Given the description of an element on the screen output the (x, y) to click on. 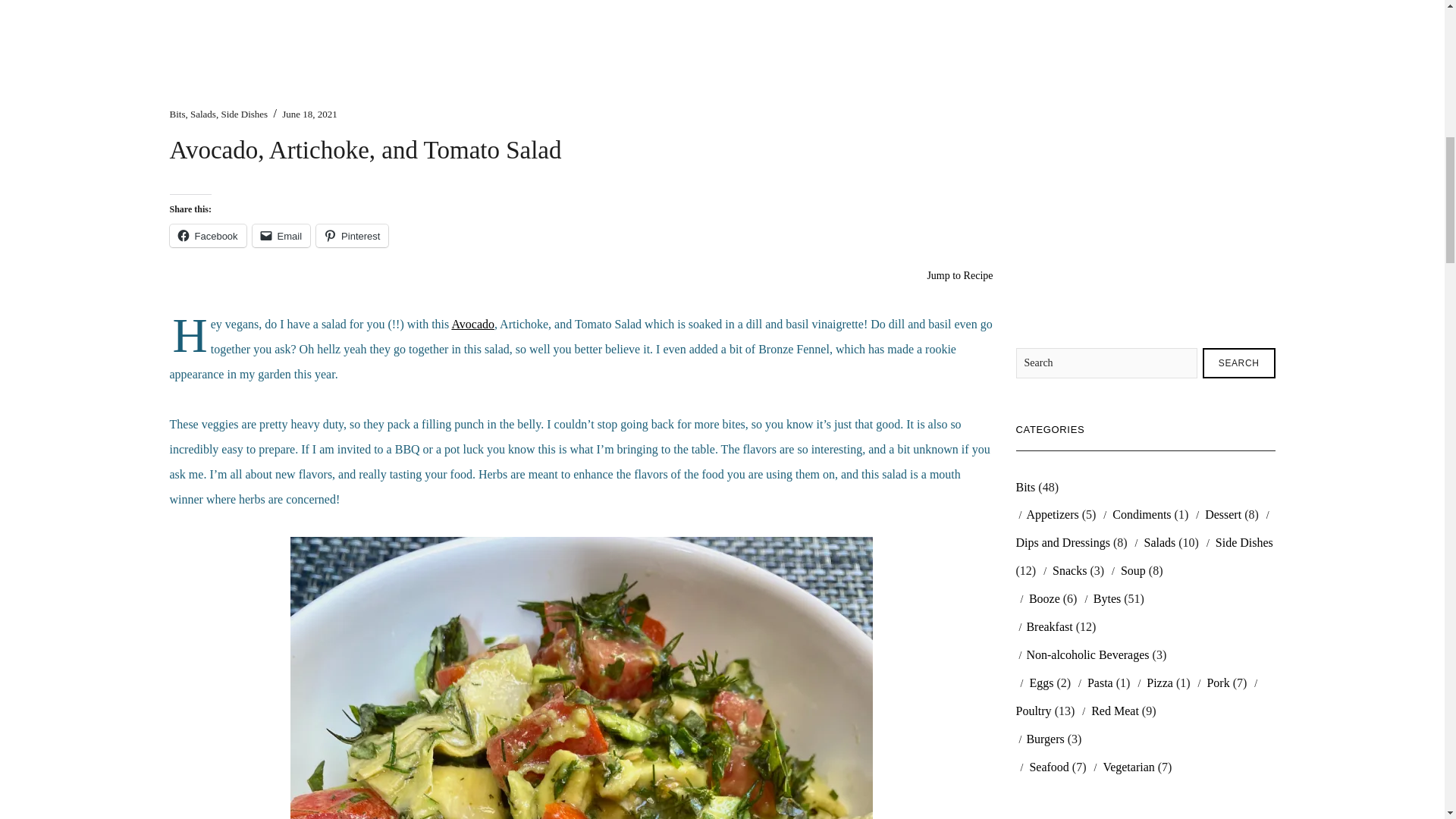
Pinterest (351, 235)
Salads (202, 113)
Jump to Recipe (959, 275)
Click to share on Pinterest (351, 235)
Email (281, 235)
Bits (178, 113)
Click to email a link to a friend (281, 235)
Facebook (208, 235)
Avocado (473, 323)
Side Dishes (244, 113)
